Given the description of an element on the screen output the (x, y) to click on. 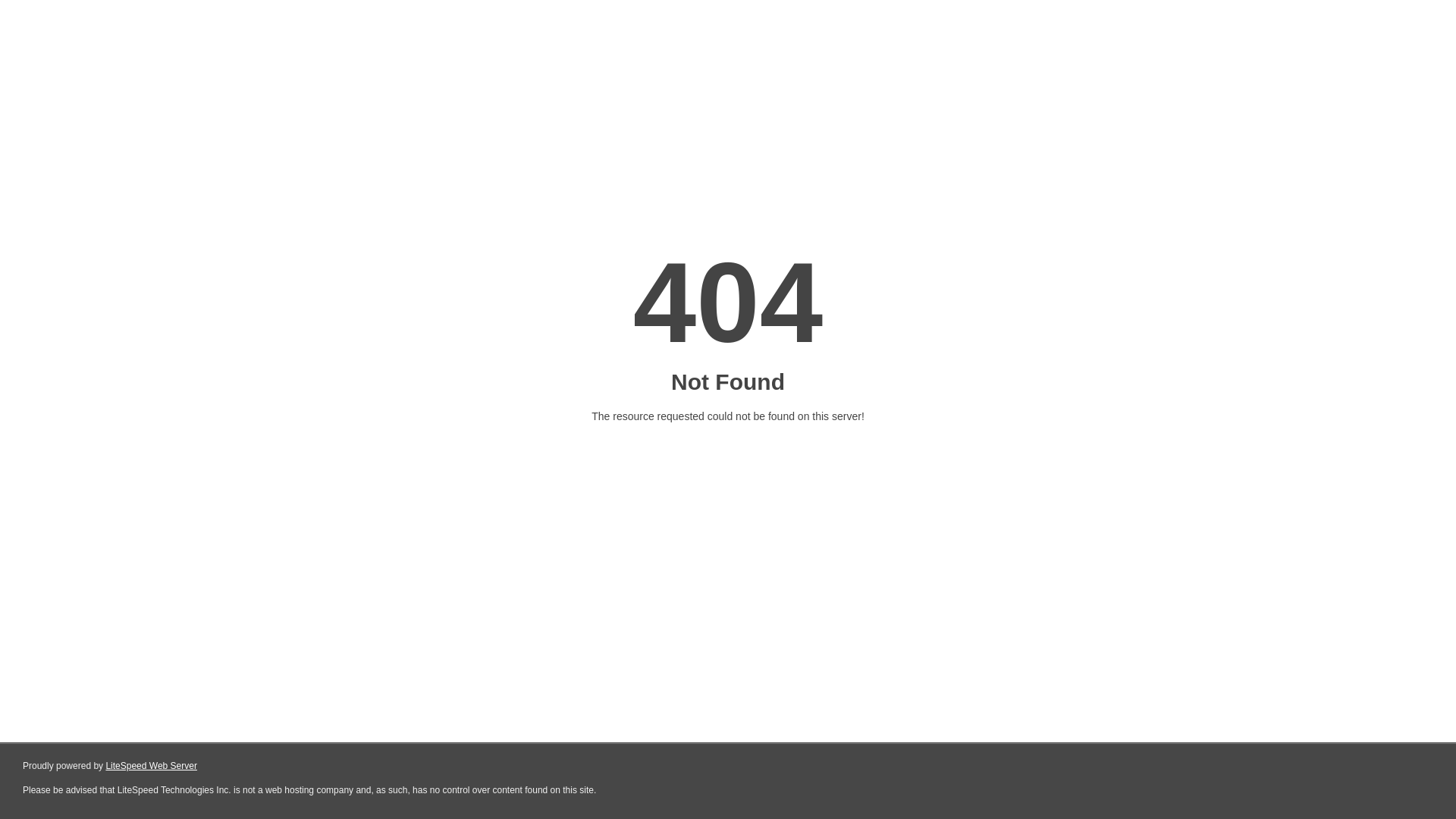
LiteSpeed Web Server Element type: text (151, 765)
